Given the description of an element on the screen output the (x, y) to click on. 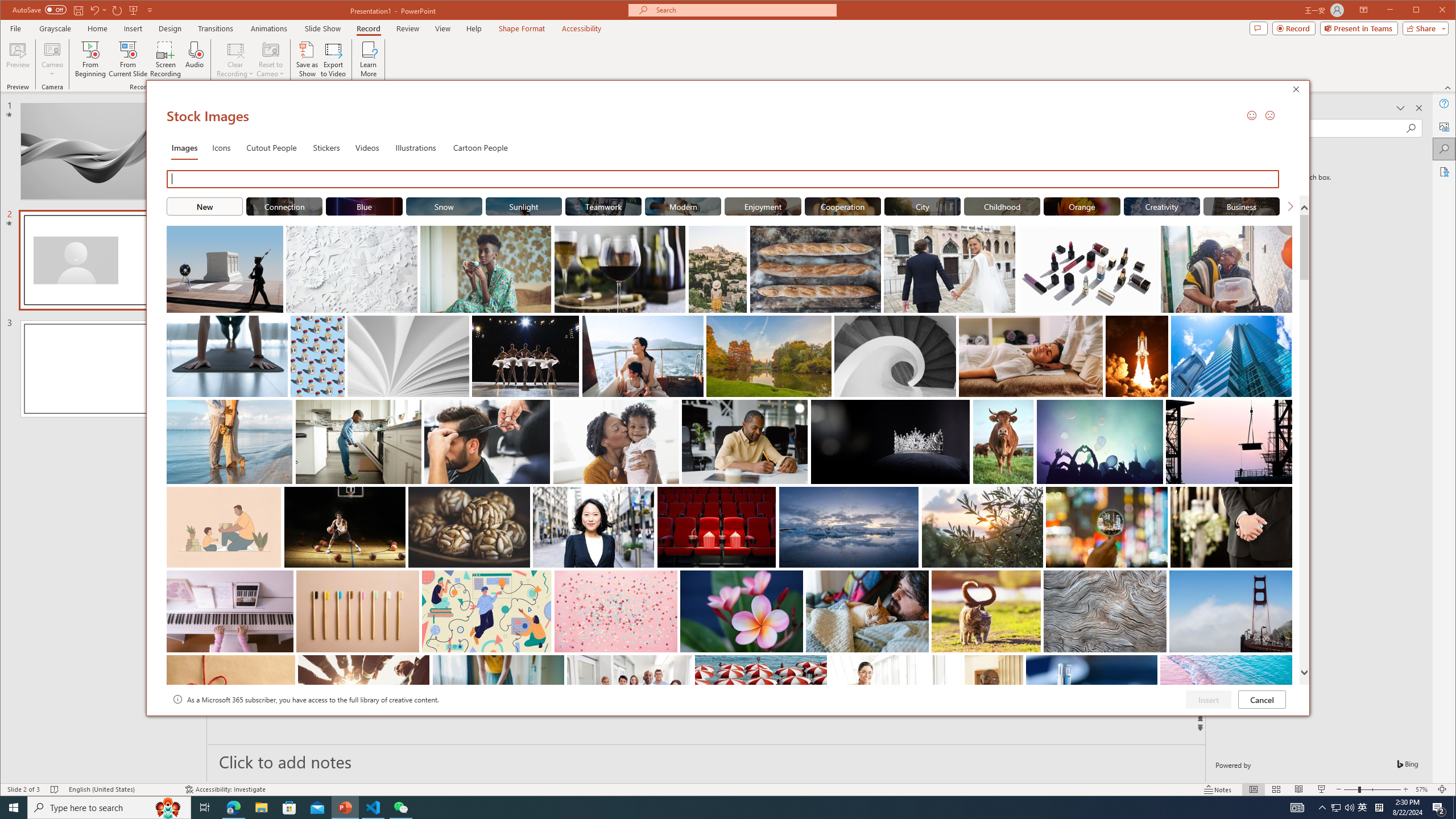
"Sunlight" Stock Images. (524, 206)
Screen Recording (165, 59)
"Business" Stock Images. (1241, 206)
Shape Format (521, 28)
